Given the description of an element on the screen output the (x, y) to click on. 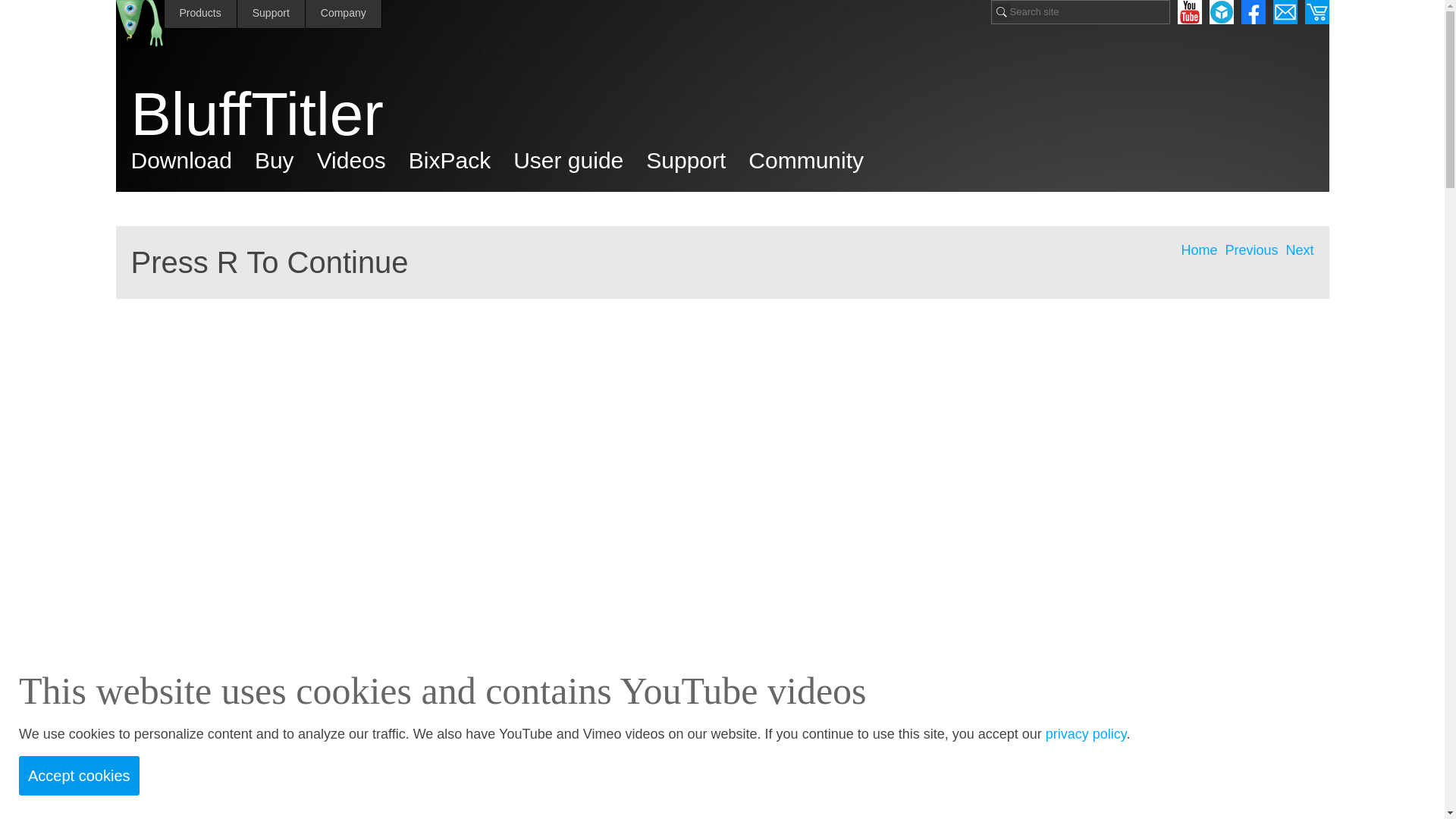
Send us a message (1284, 12)
View your shopping cart (1315, 12)
Visit our Facebook page (1252, 12)
Visit our Sketchfab channel (1220, 12)
BluffTitler (729, 114)
Next (1299, 250)
Buy (274, 160)
Accept cookies (78, 775)
Home (1198, 250)
Support (271, 14)
